Given the description of an element on the screen output the (x, y) to click on. 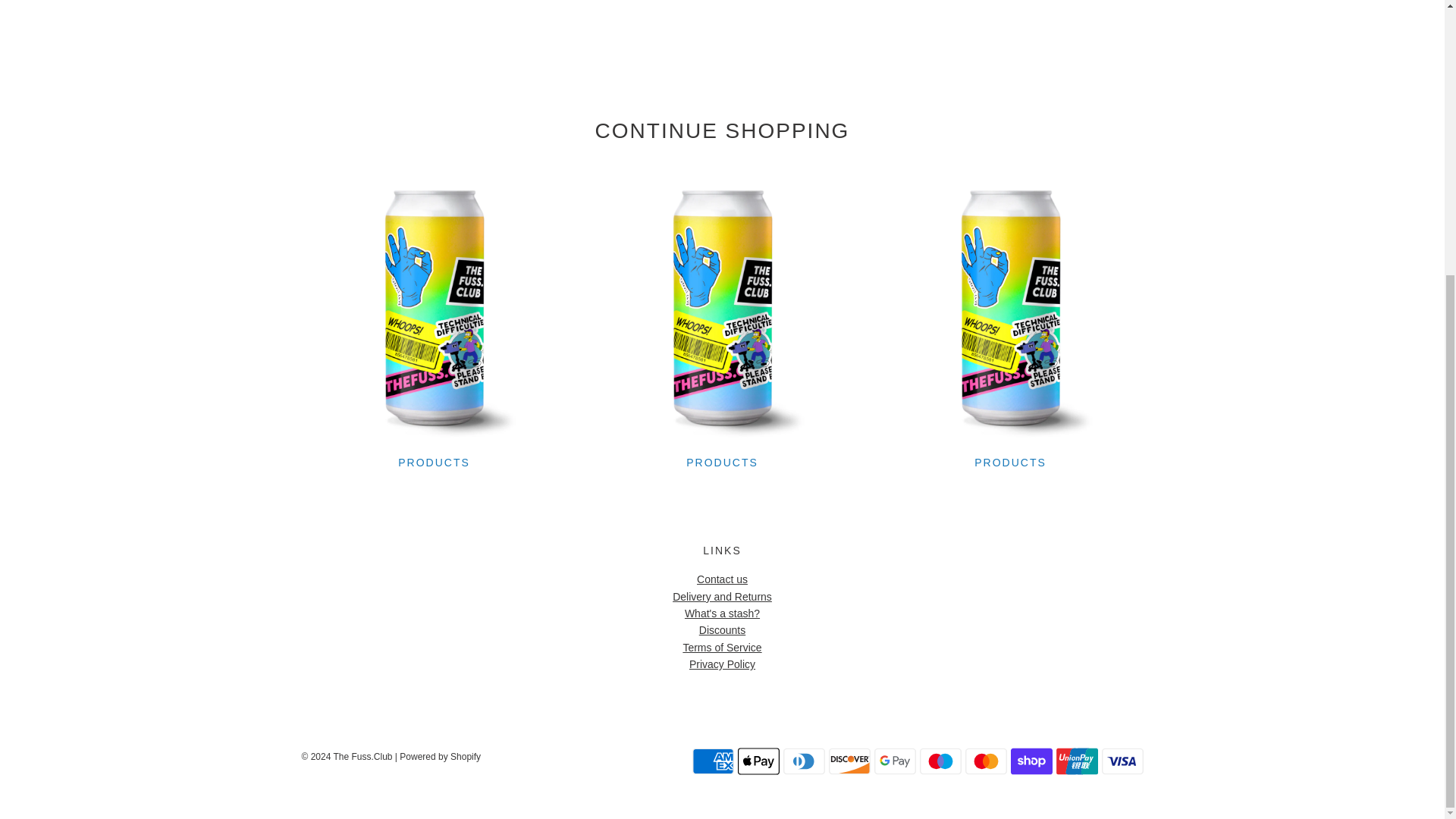
Maestro (939, 761)
Union Pay (1076, 761)
Discover (848, 761)
Google Pay (894, 761)
American Express (712, 761)
Mastercard (984, 761)
Shop Pay (1030, 761)
Diners Club (803, 761)
Visa (1121, 761)
Privacy Policy (721, 664)
